Given the description of an element on the screen output the (x, y) to click on. 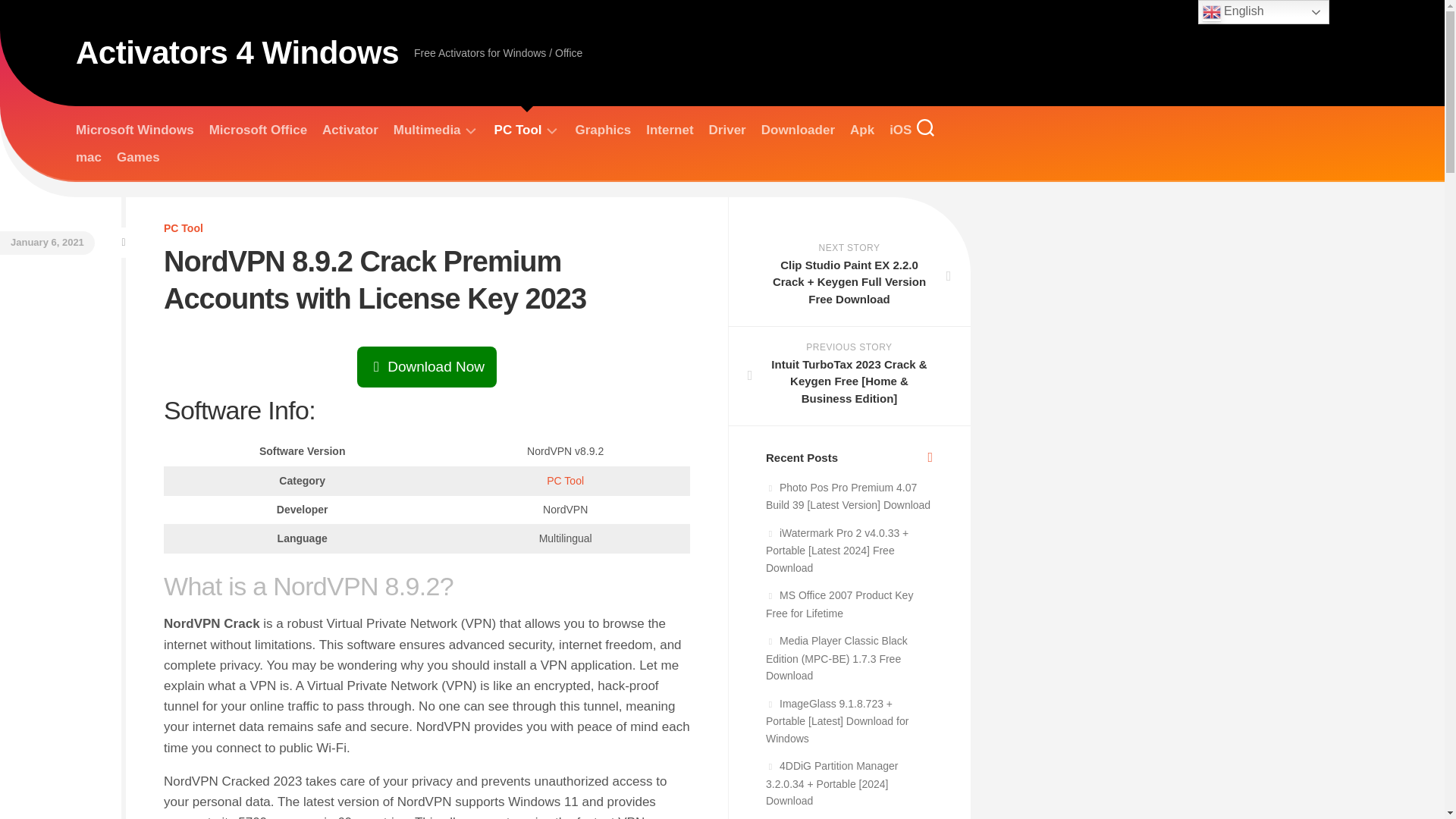
Internet (669, 130)
iOS (900, 130)
mac (88, 157)
Graphics (603, 130)
Activator (349, 130)
Multimedia (427, 130)
PC Tool (565, 480)
Driver (727, 130)
Microsoft Windows (134, 130)
Games (138, 157)
